Given the description of an element on the screen output the (x, y) to click on. 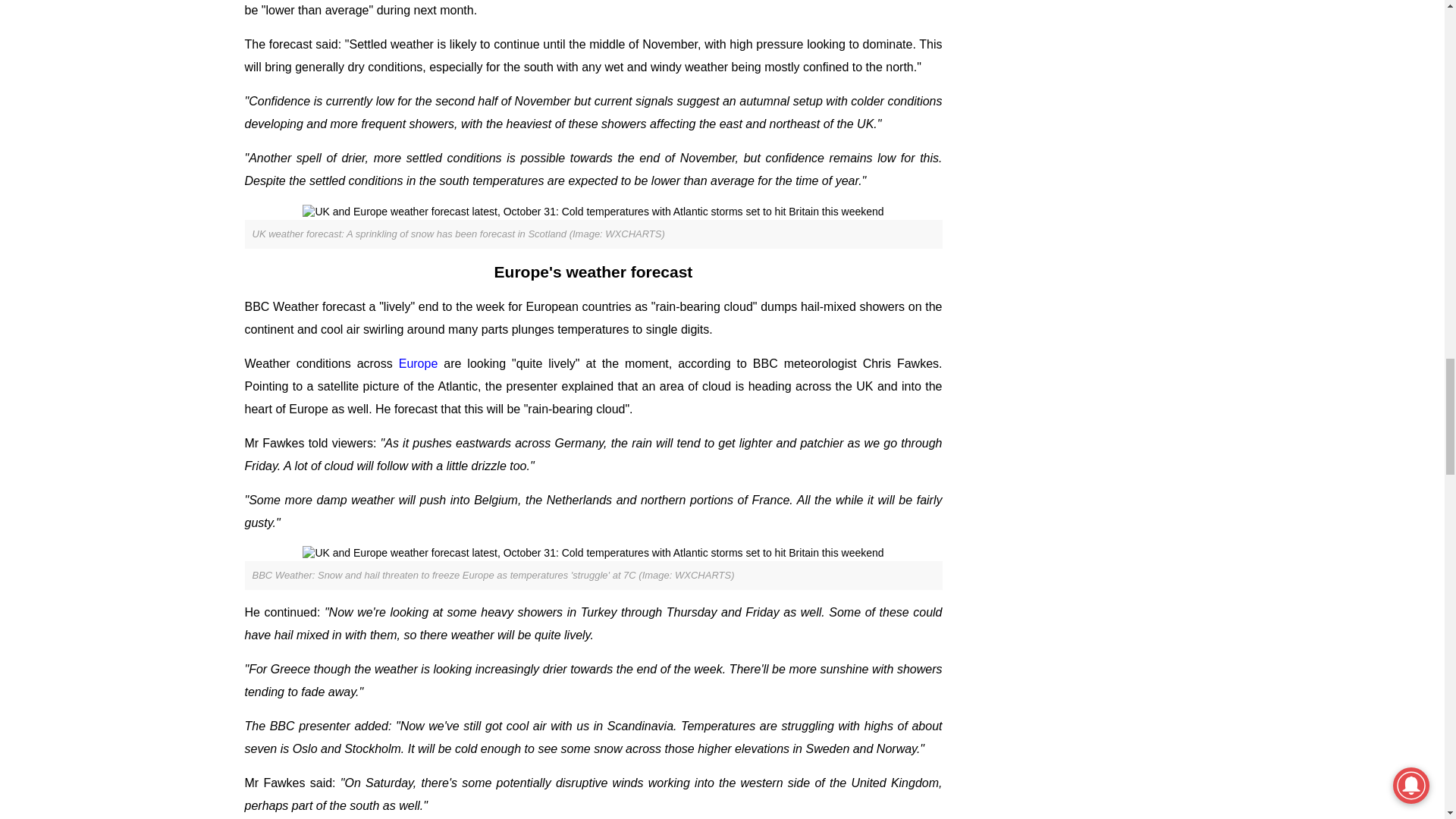
Europe (418, 363)
